Given the description of an element on the screen output the (x, y) to click on. 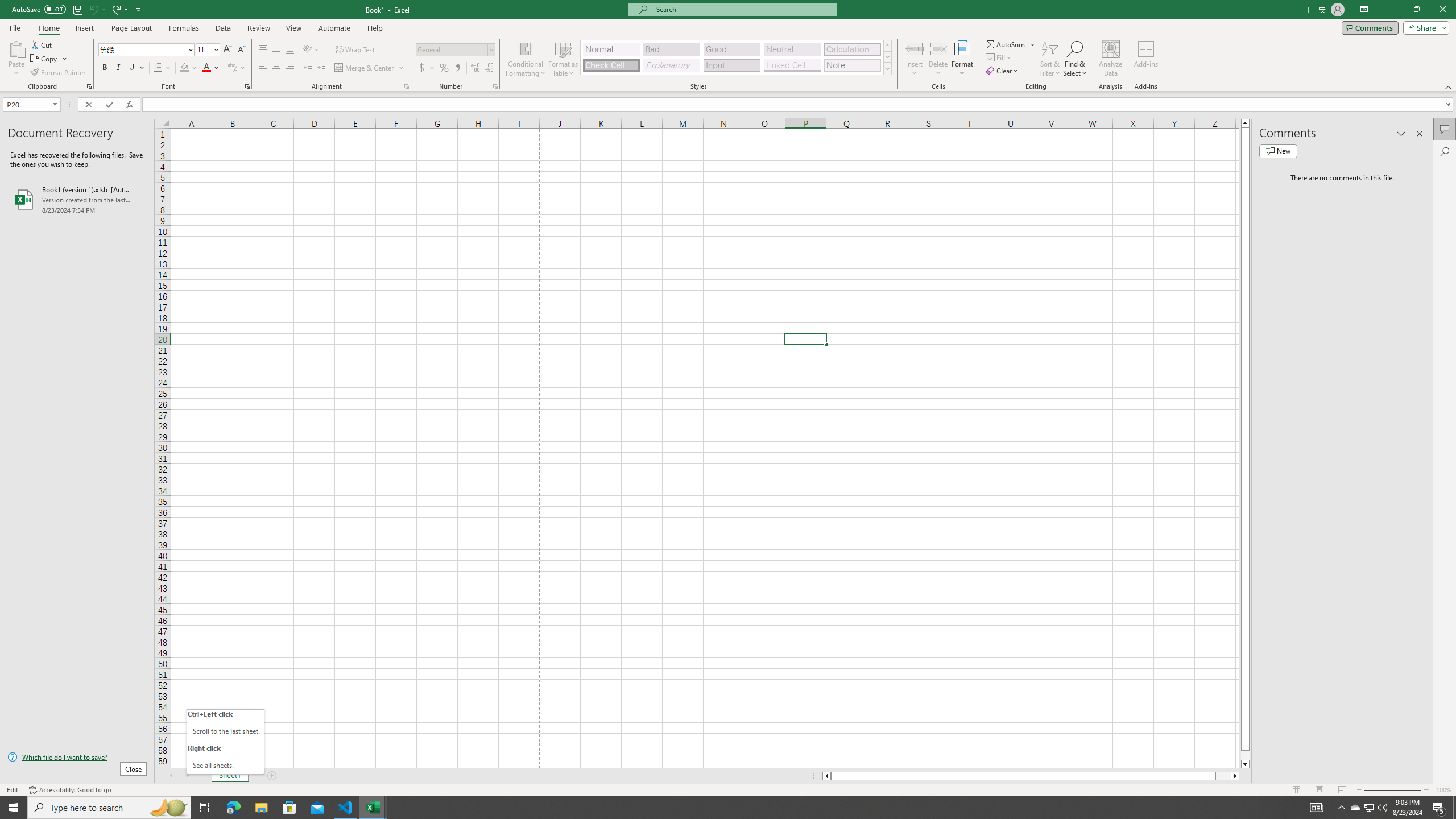
Increase Indent (320, 67)
Bottom Align (290, 49)
Note (852, 65)
Number Format (451, 49)
Percent Style (443, 67)
Format as Table (563, 58)
Copy (45, 58)
AutoSum (1011, 44)
Font (147, 49)
Center (276, 67)
